Given the description of an element on the screen output the (x, y) to click on. 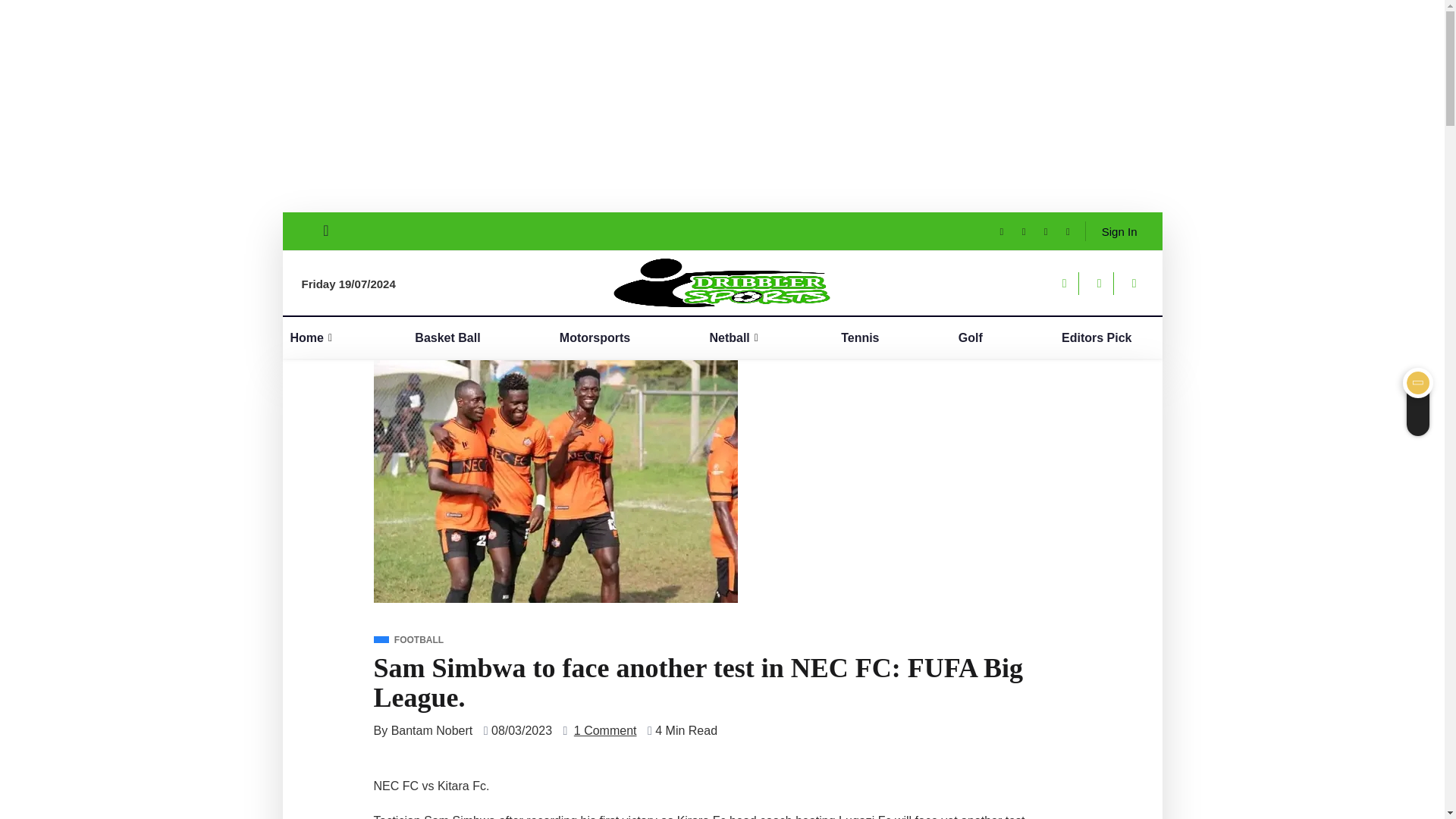
Netball (746, 337)
Editors Pick (1107, 337)
Sign In (1114, 231)
Basket Ball (458, 337)
Home (323, 337)
Tennis (871, 337)
Bantam Nobert (432, 731)
FOOTBALL (408, 640)
Motorsports (605, 337)
1 Comment (605, 731)
Golf (982, 337)
